Given the description of an element on the screen output the (x, y) to click on. 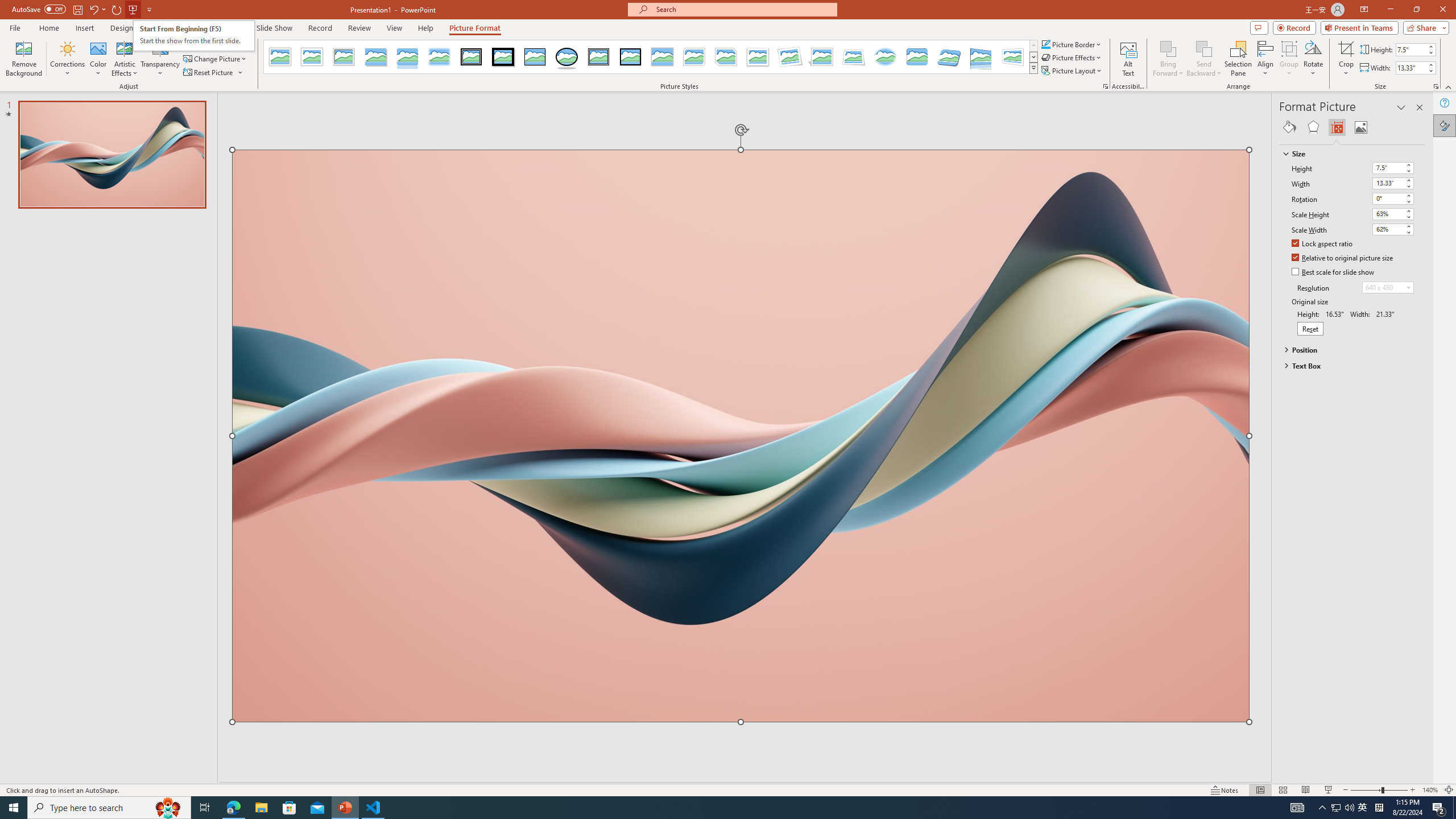
Notes  (1225, 790)
Normal (1260, 790)
Microsoft search (742, 9)
Relative to original picture size (1342, 258)
AutoSave (38, 9)
Animations (220, 28)
Resolution (1387, 287)
Reading View (1305, 790)
Collapse the Ribbon (1448, 86)
Metal Frame (343, 56)
Simple Frame, White (280, 56)
Quick Access Toolbar (82, 9)
View (395, 28)
Ribbon Display Options (1364, 9)
Width (1393, 183)
